Given the description of an element on the screen output the (x, y) to click on. 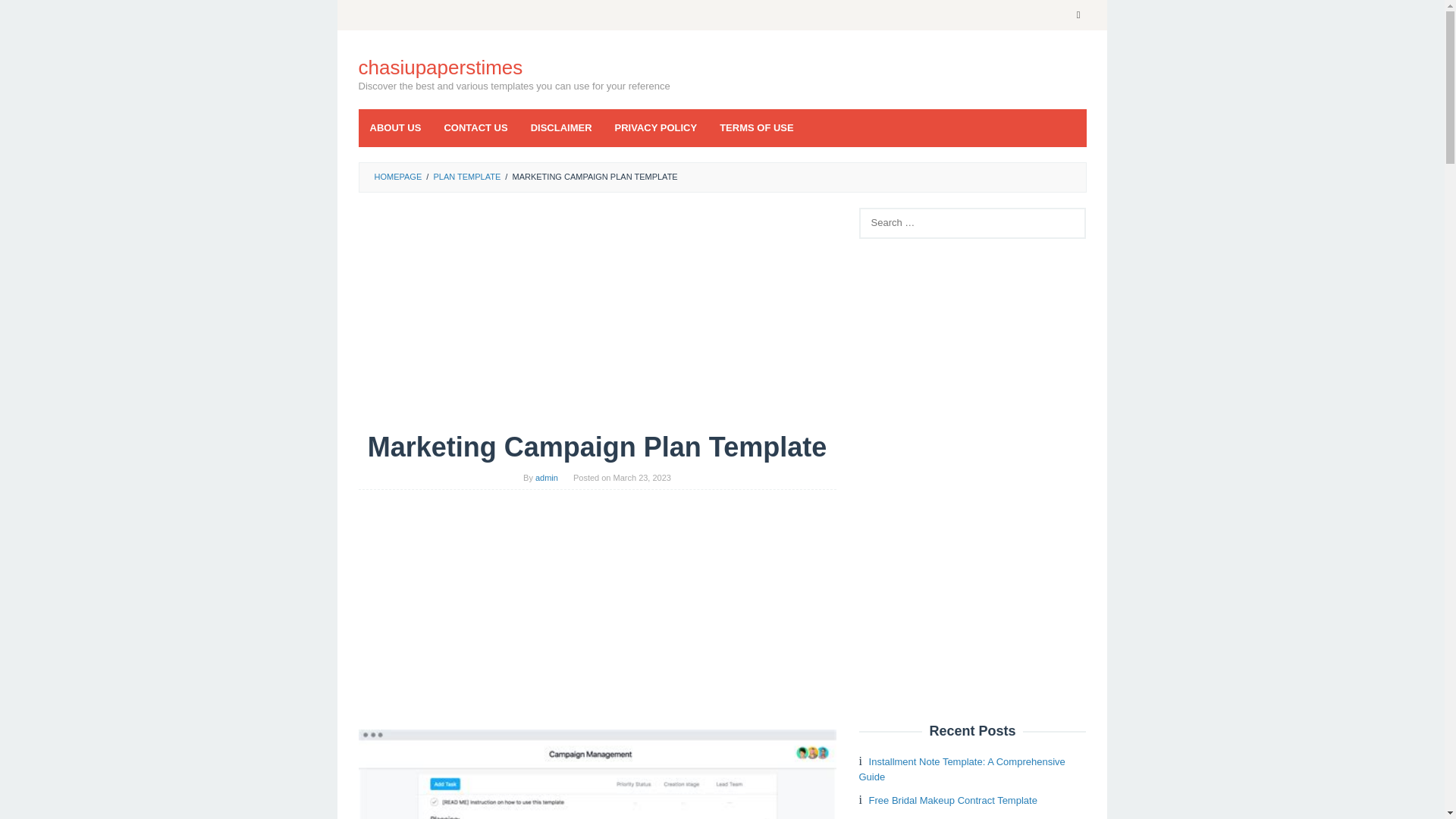
TERMS OF USE (756, 127)
DISCLAIMER (561, 127)
Permalink to: admin (546, 477)
CONTACT US (475, 127)
chasiupaperstimes (440, 67)
HOMEPAGE (398, 175)
Marketing Campaign Plan Template (596, 774)
ABOUT US (395, 127)
admin (546, 477)
Advertisement (596, 319)
